Given the description of an element on the screen output the (x, y) to click on. 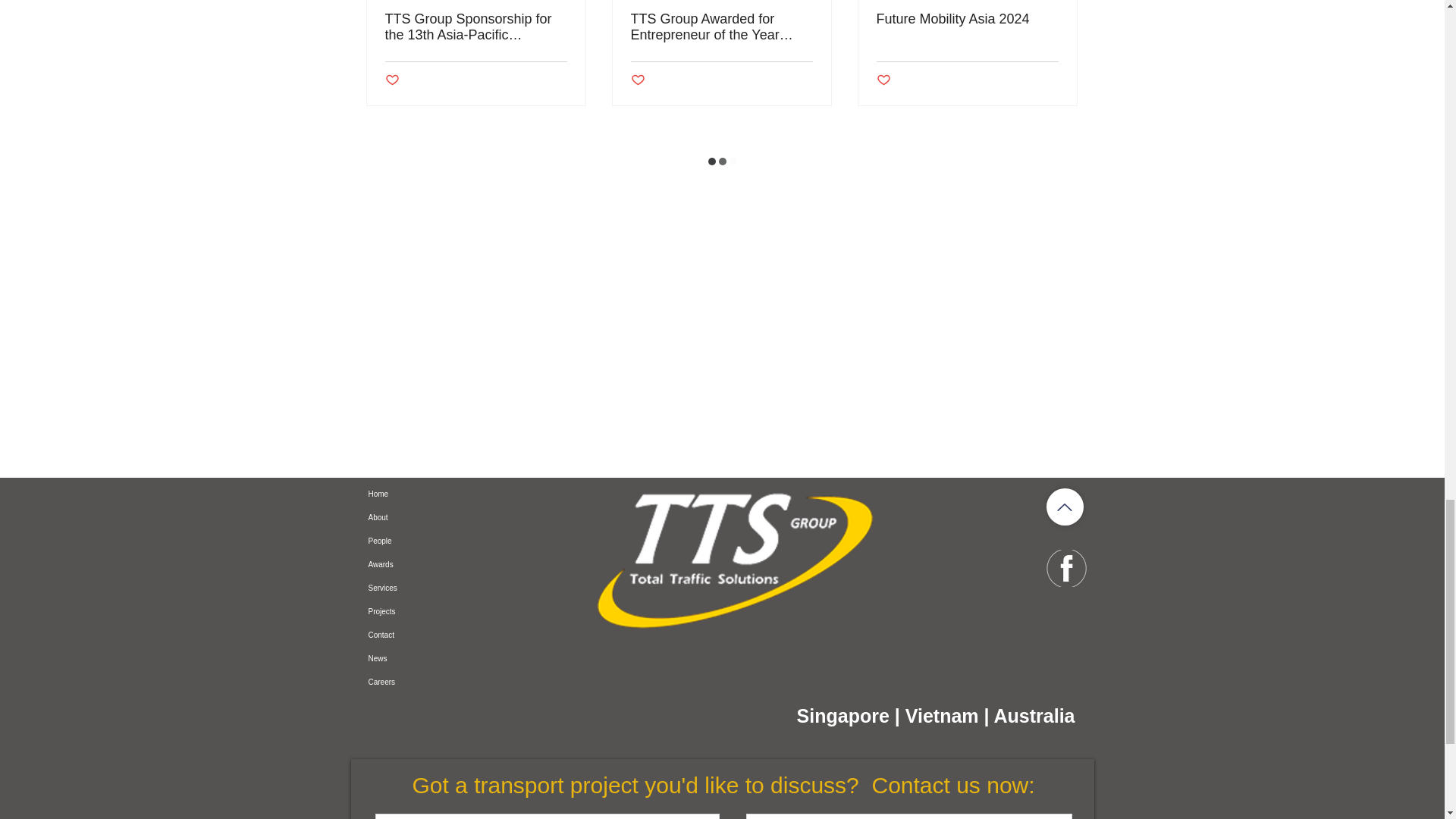
Post not marked as liked (637, 80)
Post not marked as liked (391, 80)
Post not marked as liked (883, 80)
Future Mobility Asia 2024 (967, 19)
